Given the description of an element on the screen output the (x, y) to click on. 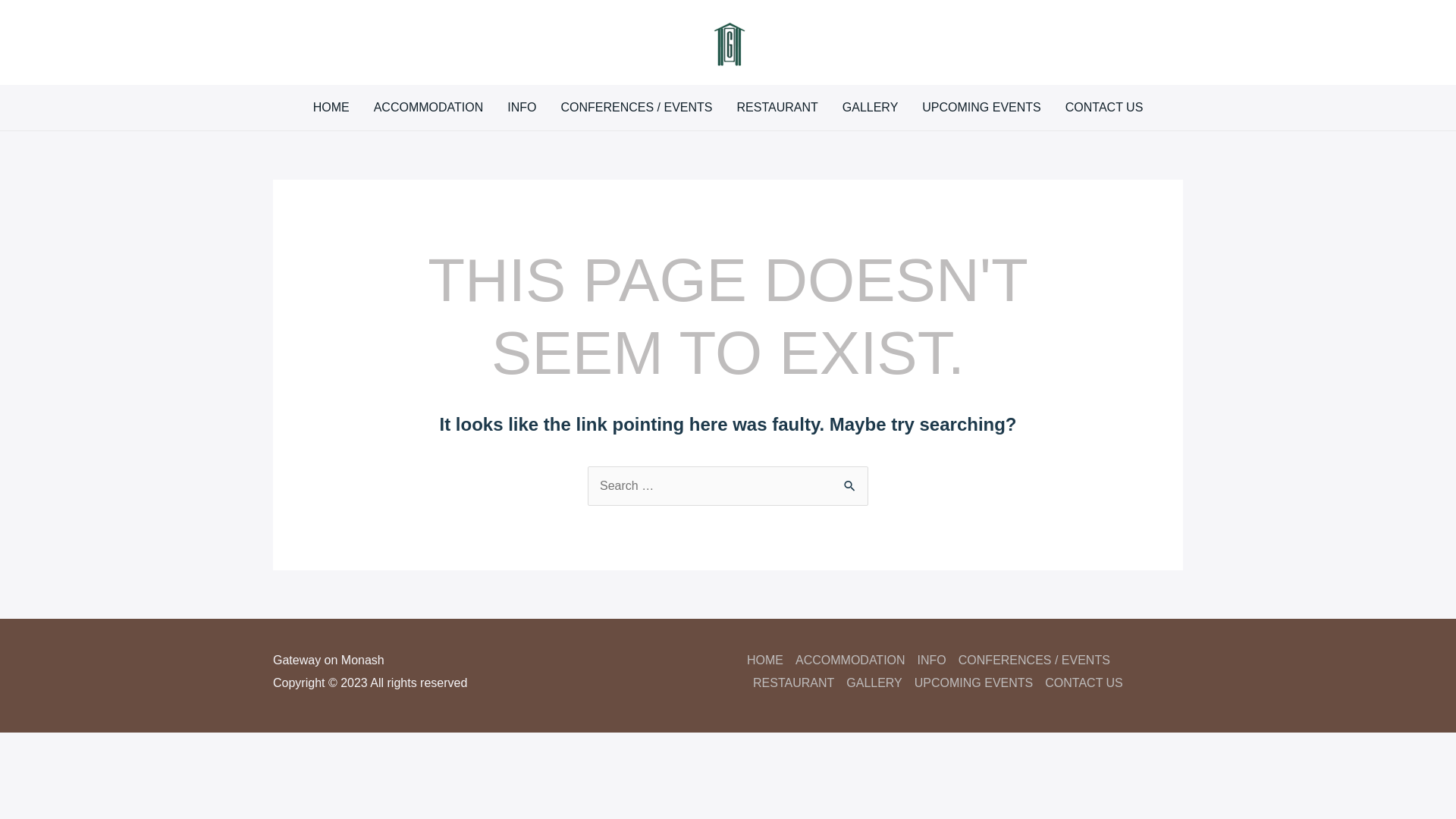
UPCOMING EVENTS Element type: text (981, 107)
HOME Element type: text (331, 107)
CONTACT US Element type: text (1104, 107)
INFO Element type: text (931, 659)
GALLERY Element type: text (870, 107)
CONTACT US Element type: text (1080, 682)
INFO Element type: text (521, 107)
Search Element type: text (851, 481)
RESTAURANT Element type: text (777, 107)
UPCOMING EVENTS Element type: text (973, 682)
CONFERENCES / EVENTS Element type: text (636, 107)
HOME Element type: text (767, 659)
CONFERENCES / EVENTS Element type: text (1034, 659)
GALLERY Element type: text (874, 682)
ACCOMMODATION Element type: text (850, 659)
RESTAURANT Element type: text (793, 682)
ACCOMMODATION Element type: text (428, 107)
